Given the description of an element on the screen output the (x, y) to click on. 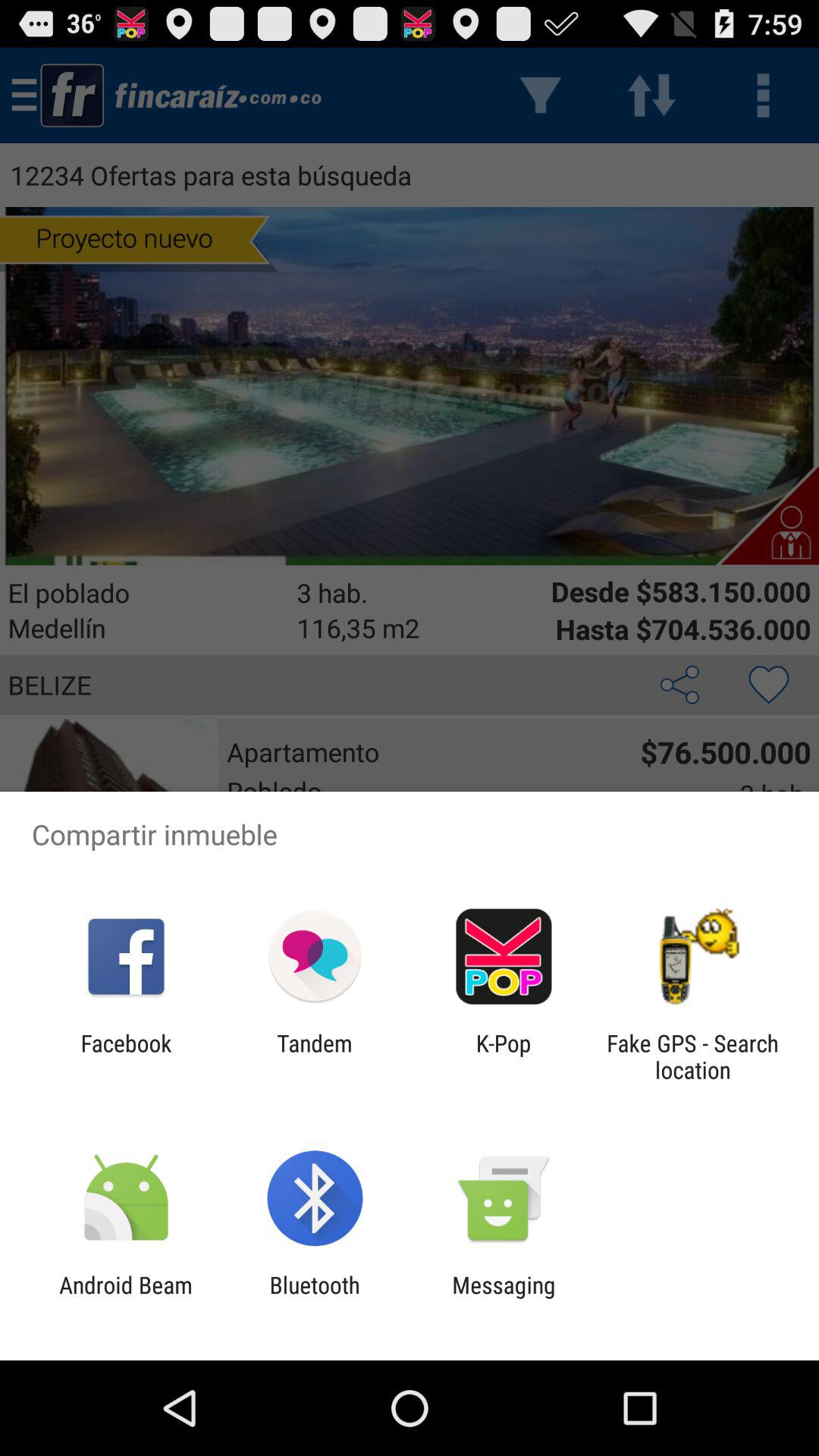
press the app to the right of bluetooth app (503, 1298)
